Given the description of an element on the screen output the (x, y) to click on. 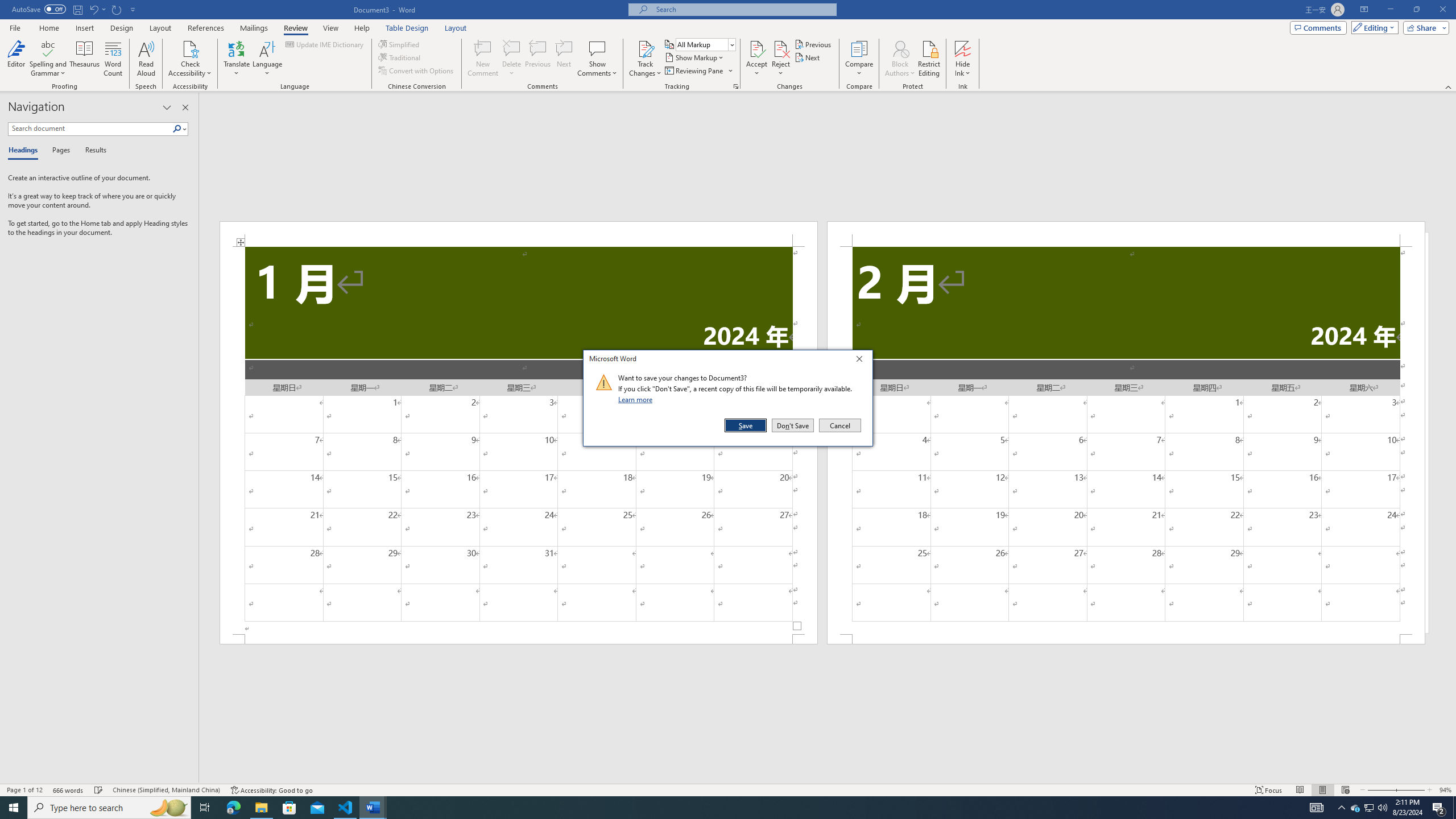
Convert with Options... (417, 69)
Language (267, 58)
Show Comments (597, 58)
Hide Ink (962, 48)
Microsoft Edge (233, 807)
